Given the description of an element on the screen output the (x, y) to click on. 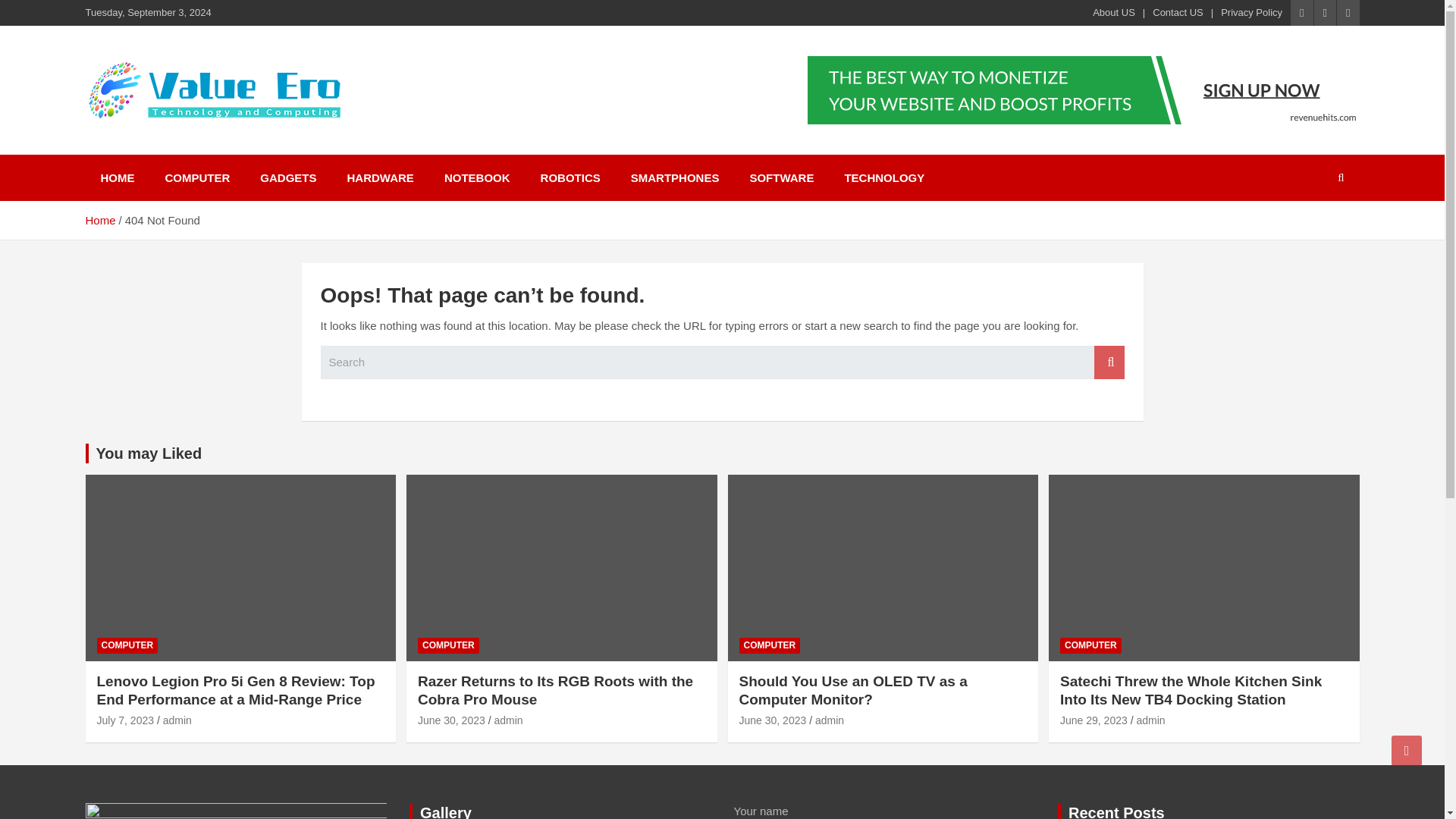
COMPUTER (448, 645)
About US (1114, 12)
Home (99, 219)
July 7, 2023 (125, 720)
Should You Use an OLED TV as a Computer Monitor? (852, 690)
SOFTWARE (780, 177)
Should You Use an OLED TV as a Computer Monitor? (772, 720)
HARDWARE (380, 177)
NOTEBOOK (477, 177)
